Given the description of an element on the screen output the (x, y) to click on. 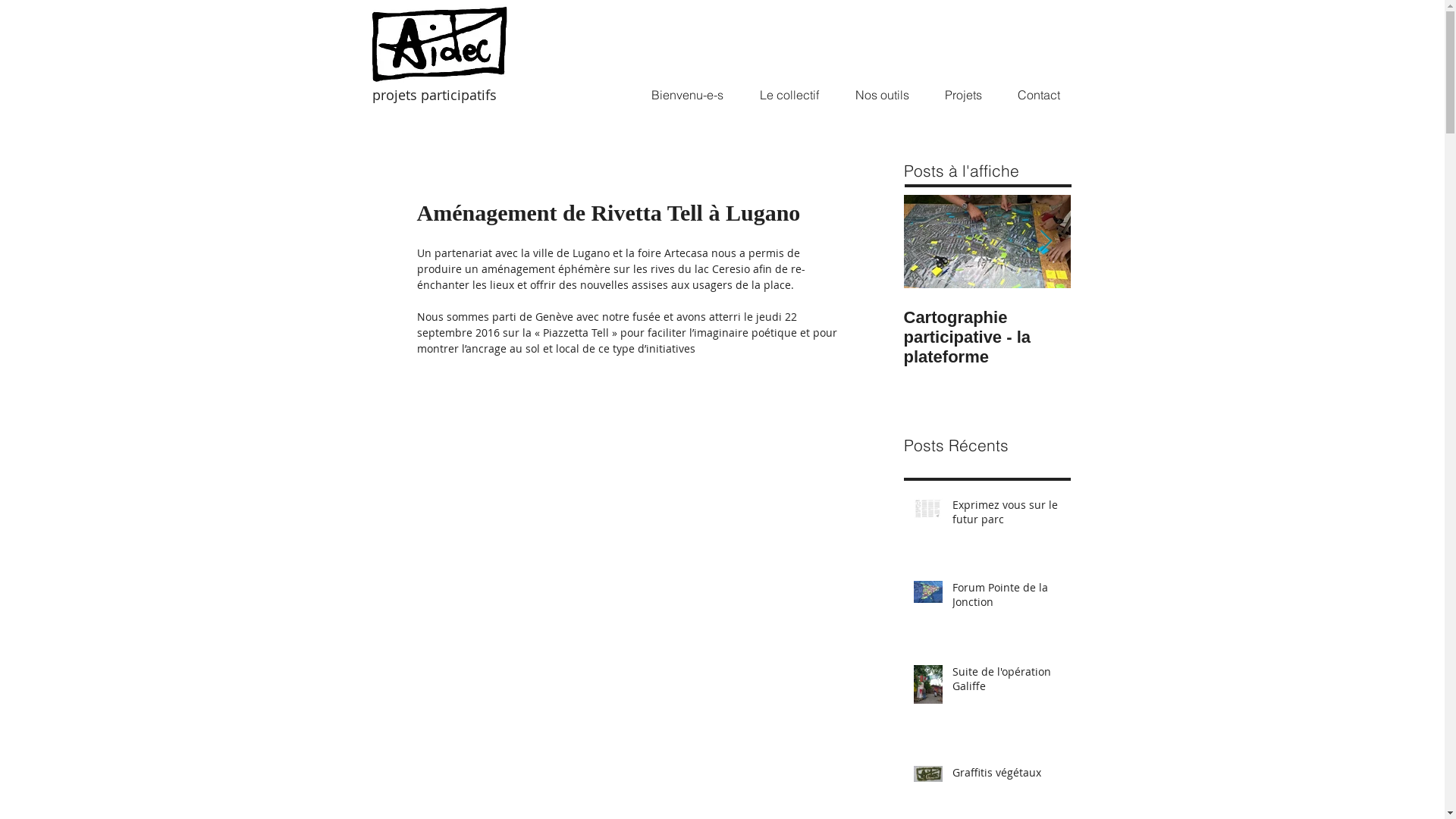
Exprimez vous sur le futur parc Element type: text (1006, 515)
Cartographie participative - la plateforme Element type: text (986, 337)
Projets Element type: text (962, 94)
Nos outils Element type: text (882, 94)
Bienvenu-e-s Element type: text (686, 94)
Contact Element type: text (1038, 94)
Forum Pointe de la Jonction Element type: text (1006, 597)
Le collectif Element type: text (789, 94)
